Given the description of an element on the screen output the (x, y) to click on. 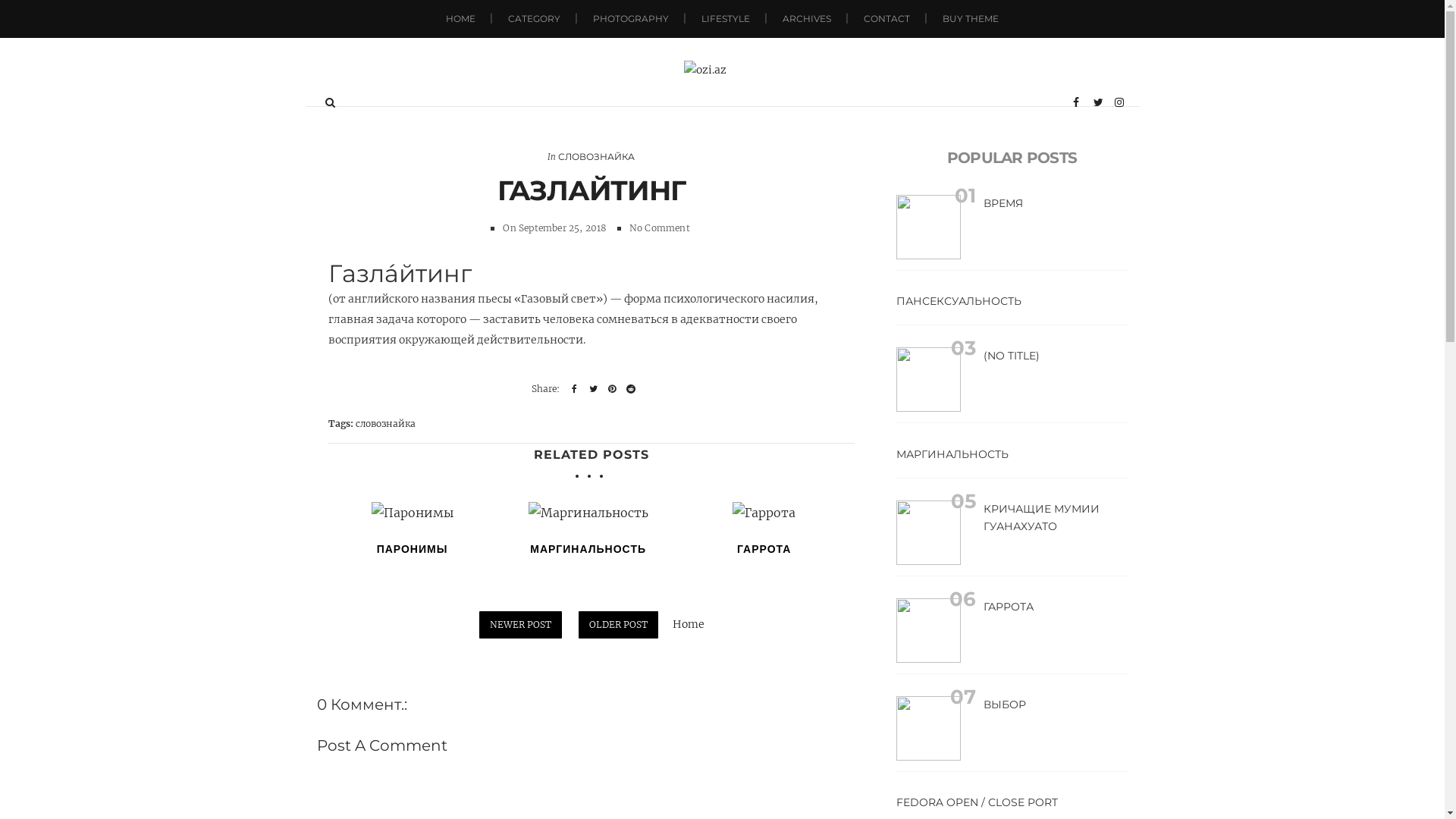
OLDER POST Element type: text (617, 624)
PHOTOGRAPHY Element type: text (630, 18)
No Comment Element type: text (659, 226)
LIFESTYLE Element type: text (725, 18)
(NO TITLE) Element type: text (1010, 355)
ARCHIVES Element type: text (806, 18)
CATEGORY Element type: text (533, 18)
HOME Element type: text (460, 18)
Home Element type: text (688, 623)
FEDORA OPEN / CLOSE PORT Element type: text (976, 802)
CONTACT Element type: text (886, 18)
NEWER POST Element type: text (520, 624)
BUY THEME Element type: text (970, 18)
Search here. Element type: hover (329, 101)
